Given the description of an element on the screen output the (x, y) to click on. 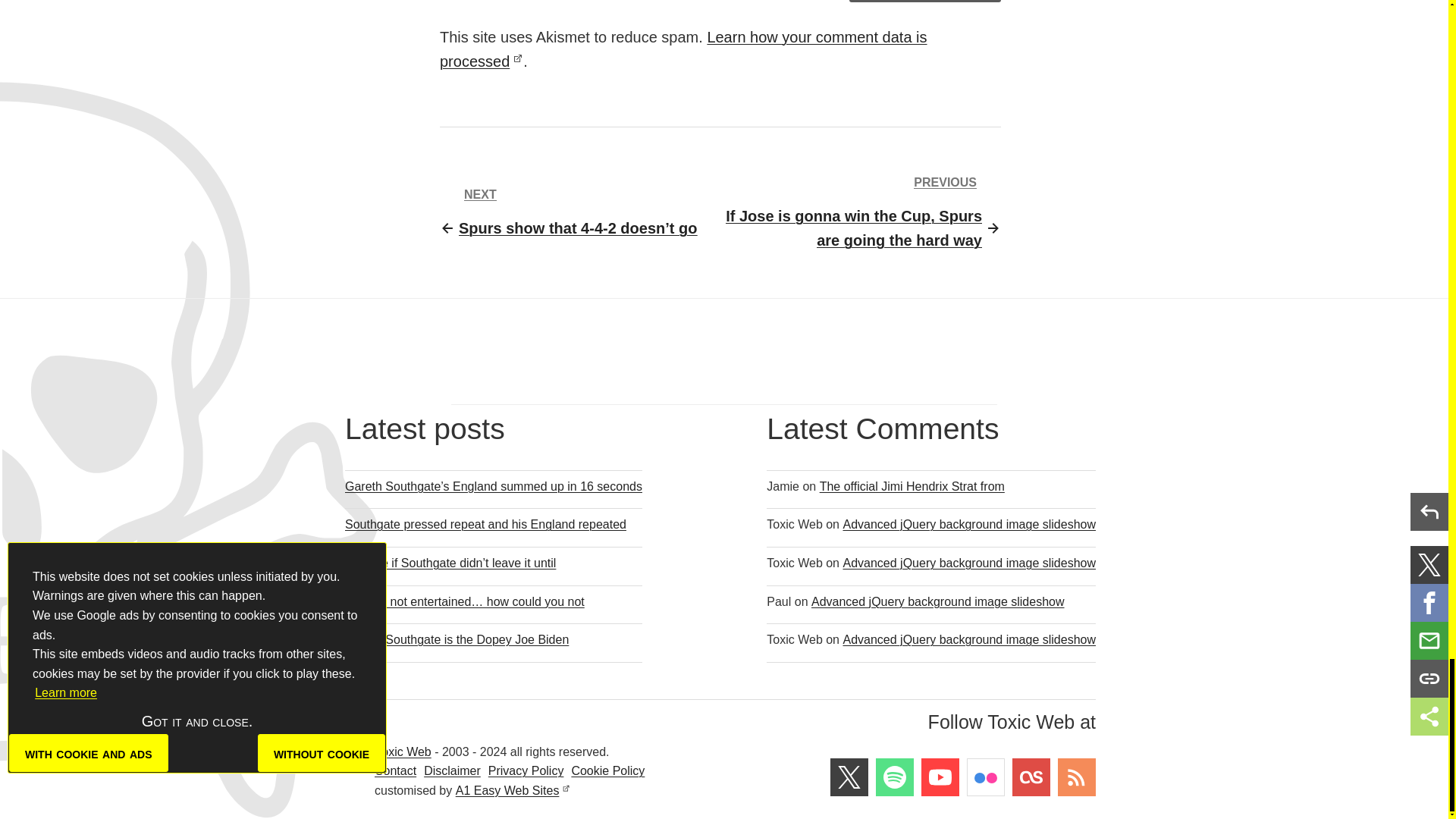
Post Comment (924, 1)
Learn how your comment data is processed (683, 48)
